Given the description of an element on the screen output the (x, y) to click on. 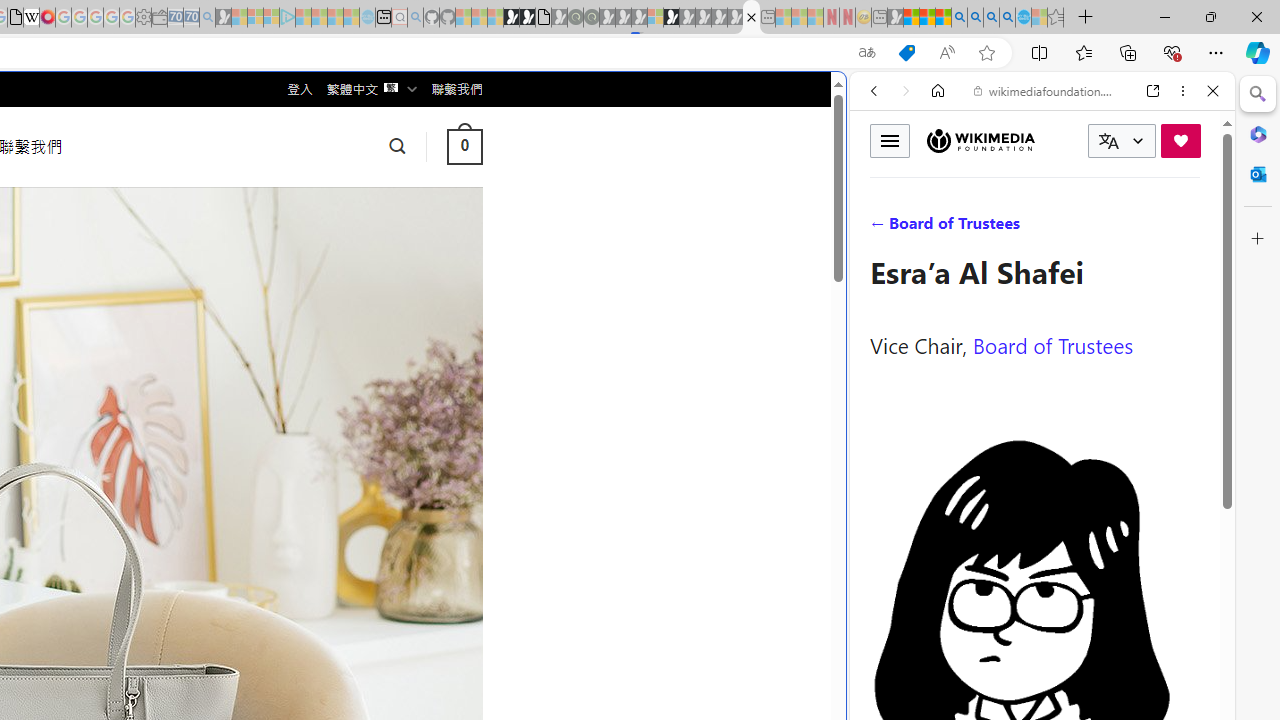
Board of Trustees (1053, 344)
Class: i icon icon-translate language-switcher__icon (1108, 141)
